Given the description of an element on the screen output the (x, y) to click on. 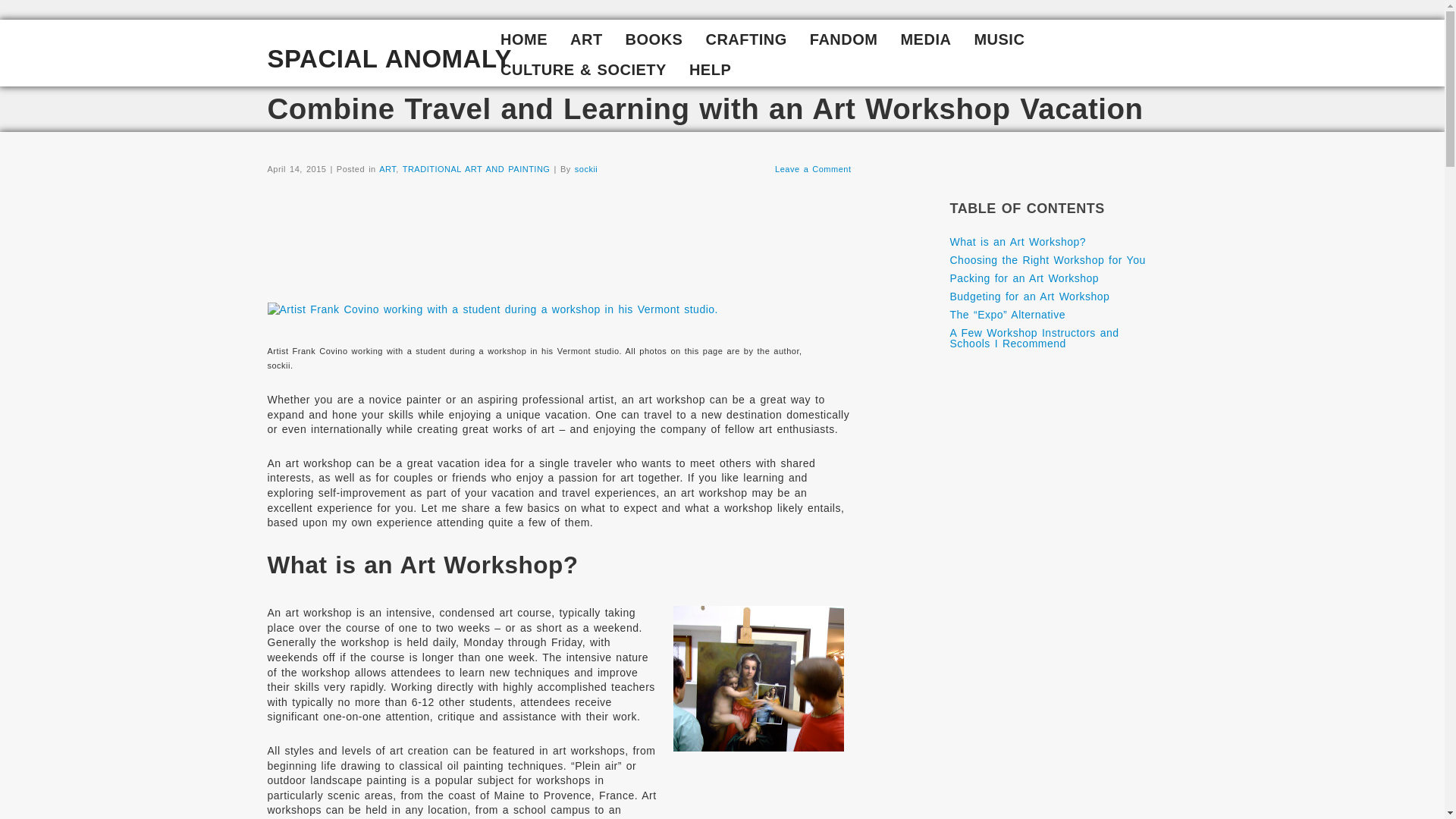
BOOKS (654, 40)
HOME (524, 40)
CRAFTING (745, 40)
Posts by sockii (586, 168)
ART (586, 40)
SPACIAL ANOMALY (389, 58)
